Given the description of an element on the screen output the (x, y) to click on. 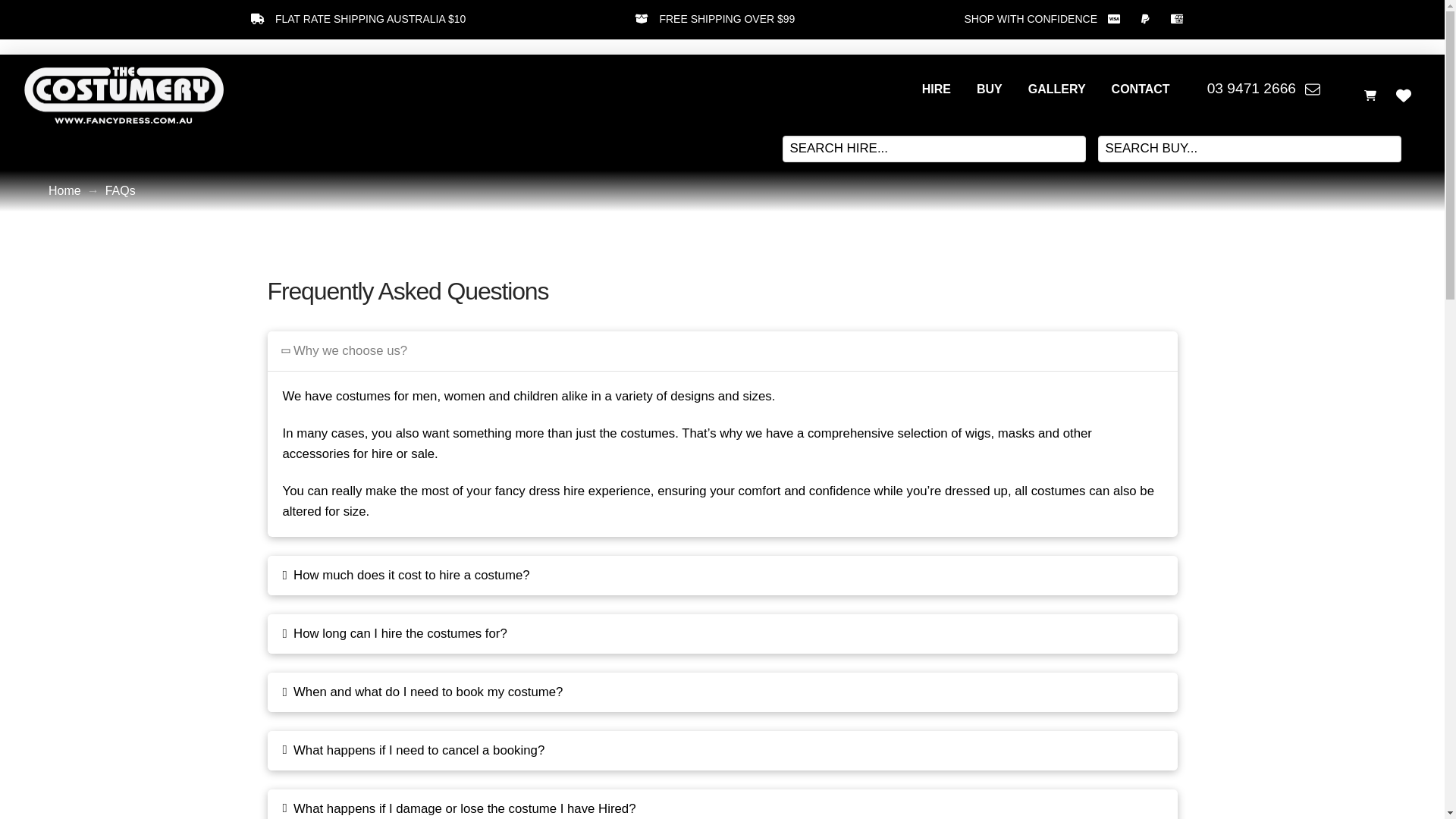
HIRE Element type: text (936, 89)
CONTACT Element type: text (1140, 89)
Search Hire... Element type: hover (933, 148)
GALLERY Element type: text (1056, 89)
Home Element type: text (64, 191)
Search Element type: text (33, 17)
FAQs Element type: text (120, 191)
BUY Element type: text (989, 89)
Search BUY... Element type: hover (1249, 148)
